Given the description of an element on the screen output the (x, y) to click on. 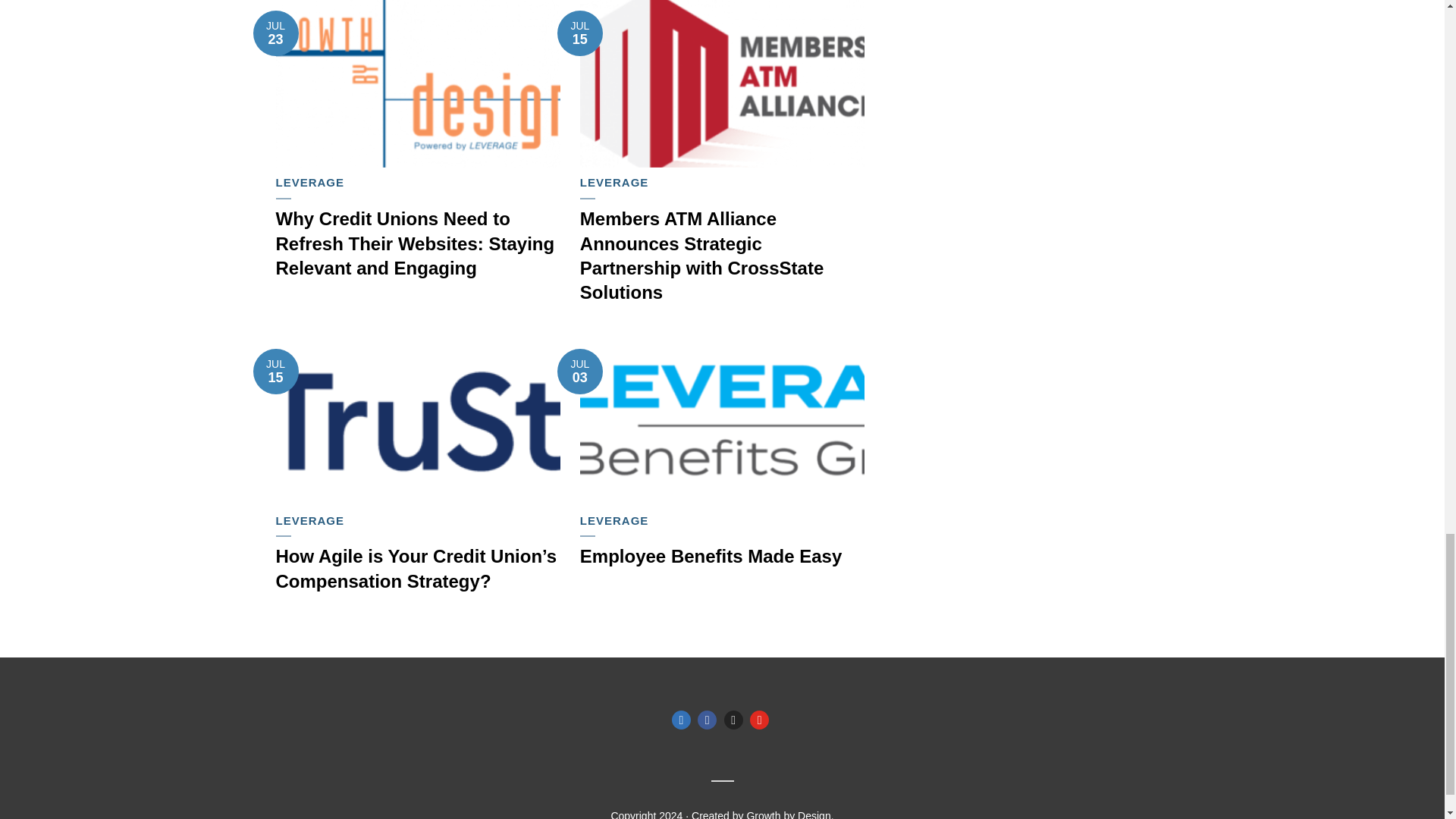
YouTube (758, 719)
Facebook (706, 719)
Linkedin (680, 719)
